Given the description of an element on the screen output the (x, y) to click on. 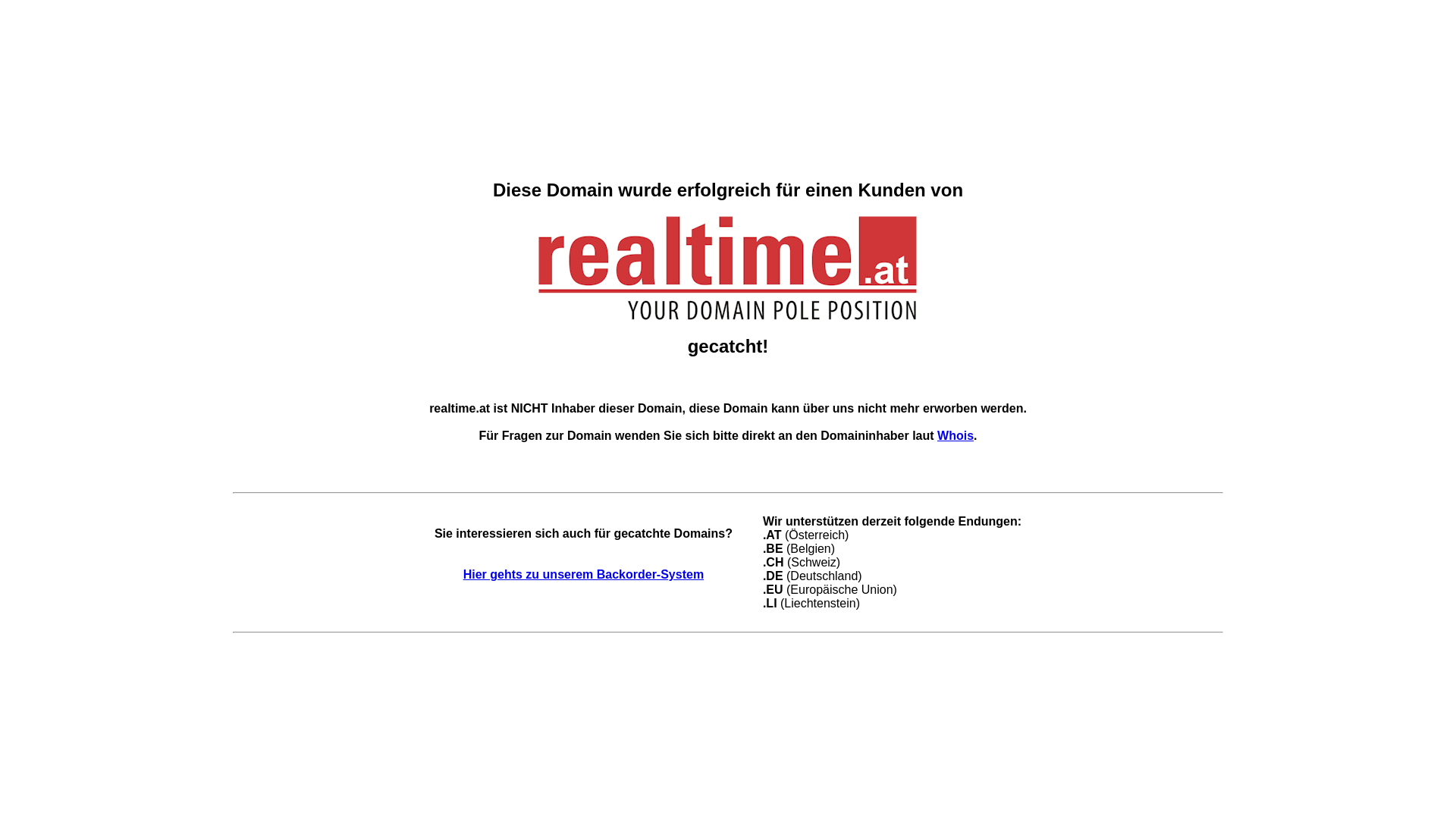
Hier gehts zu unserem Backorder-System Element type: text (583, 573)
Whois Element type: text (955, 435)
